Given the description of an element on the screen output the (x, y) to click on. 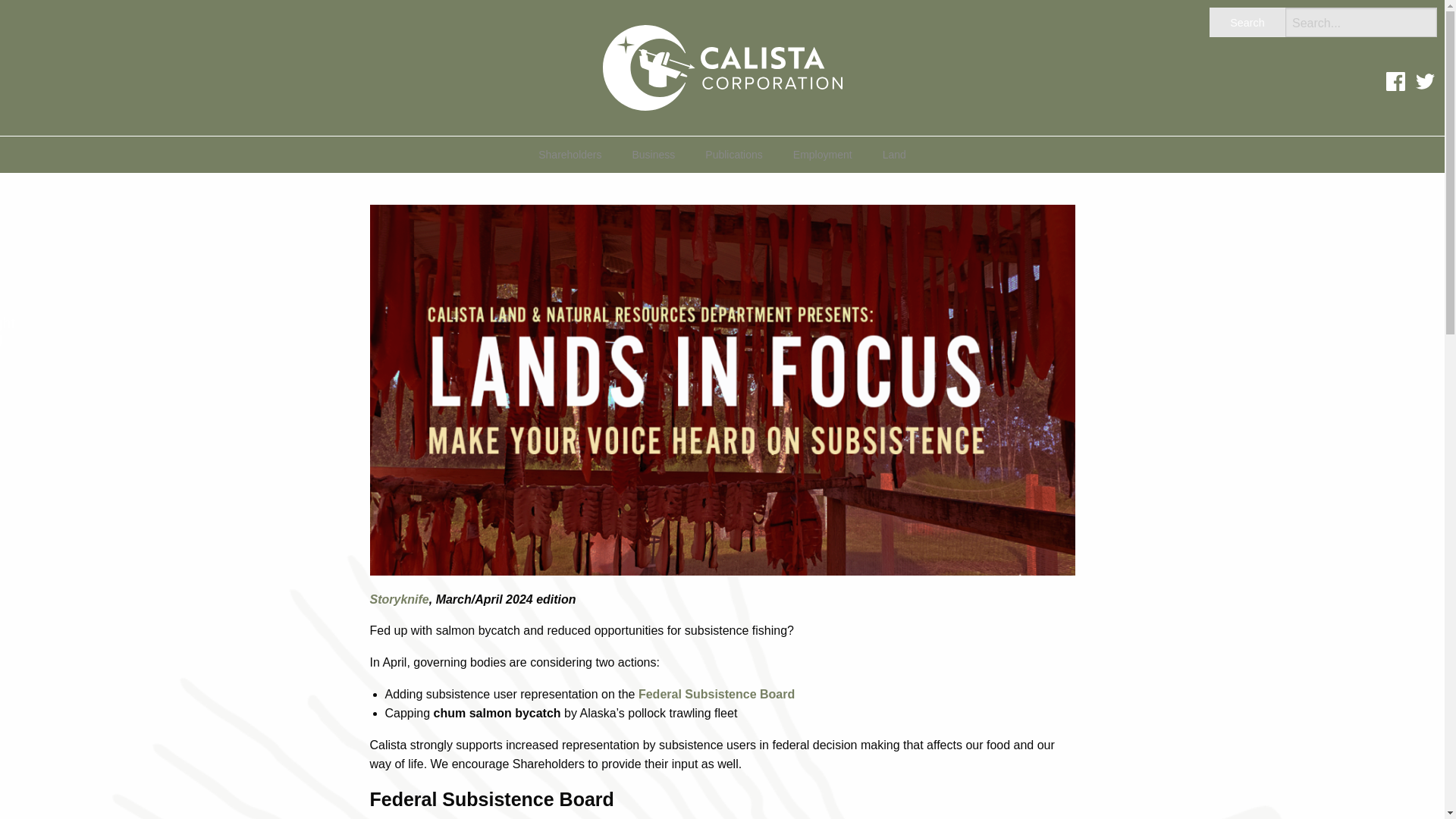
Search (1247, 21)
Search (1247, 21)
Twitter icon (1424, 81)
Search (1247, 21)
Search for: (1361, 21)
Facebook icon (1395, 90)
Facebook icon (1395, 81)
Twitter icon (1425, 90)
